Given the description of an element on the screen output the (x, y) to click on. 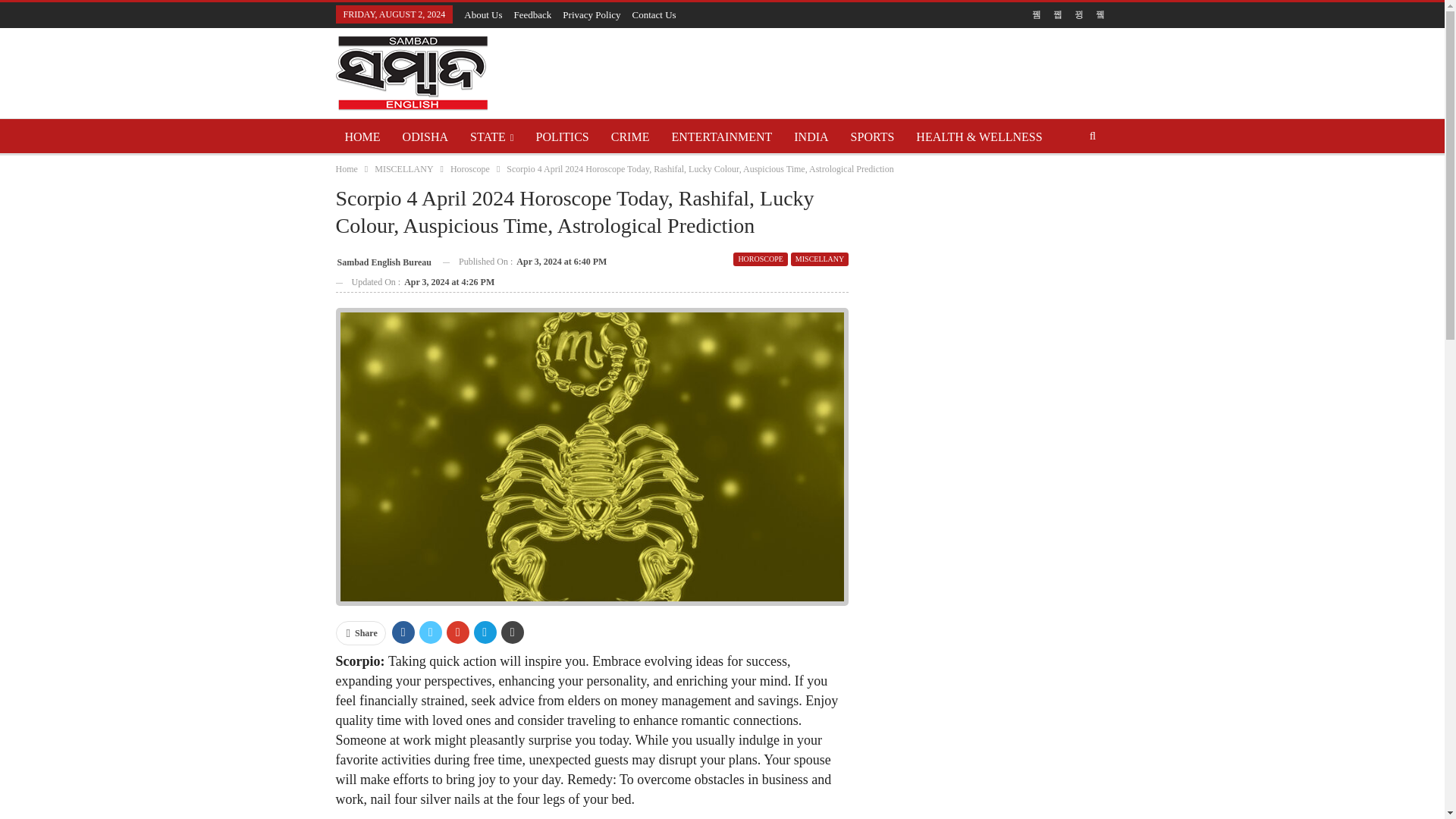
Privacy Policy (591, 14)
HOROSCOPE (760, 259)
Horoscope (469, 168)
INDIA (810, 136)
Contact Us (654, 14)
POLITICS (562, 136)
STATE (491, 136)
Sambad English Bureau (382, 261)
Browse Author Articles (382, 261)
ENTERTAINMENT (721, 136)
HOME (361, 136)
Home (345, 168)
MISCELLANY (403, 168)
ODISHA (425, 136)
SPORTS (872, 136)
